Given the description of an element on the screen output the (x, y) to click on. 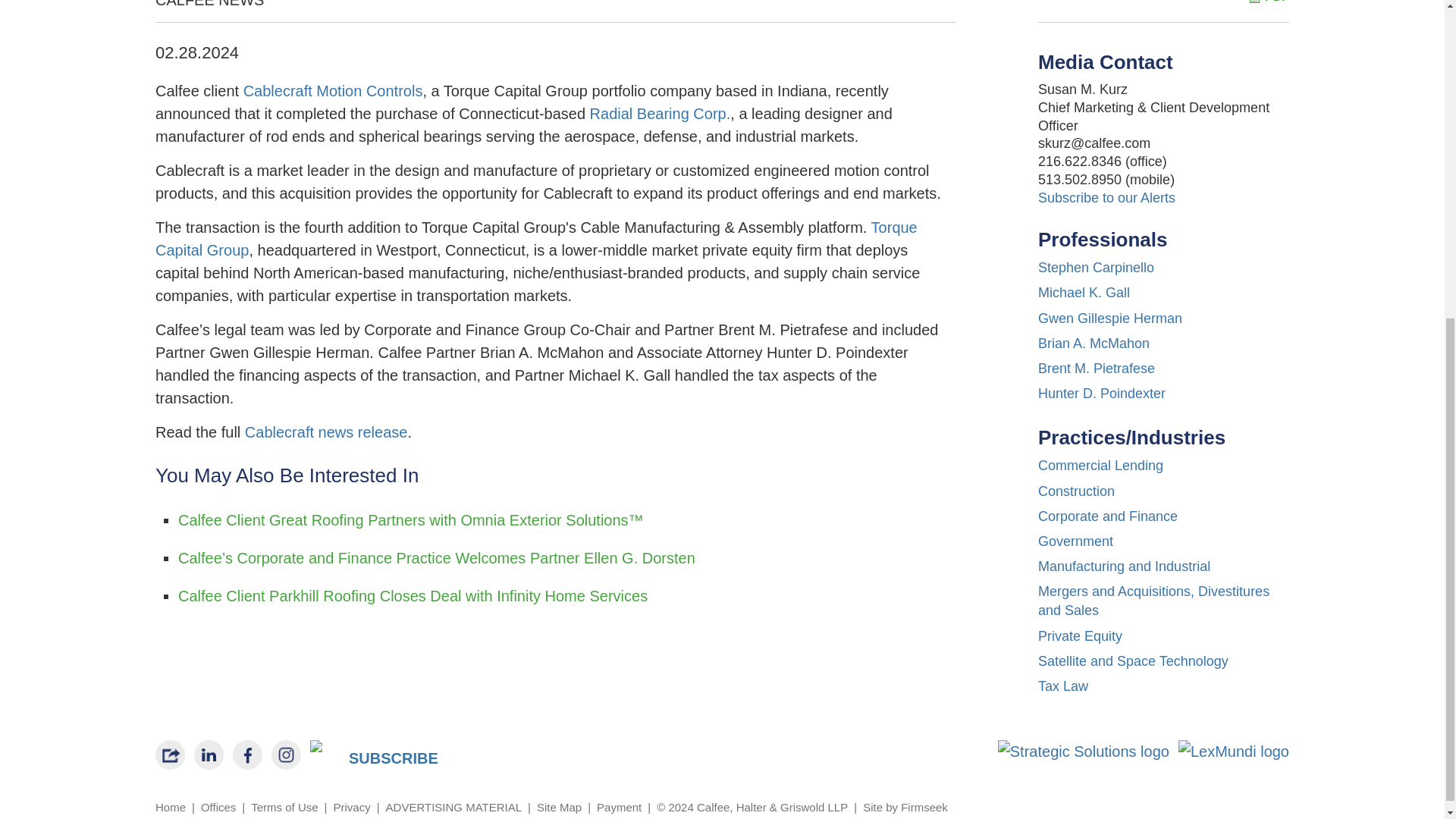
Cablecraft Motion Controls (333, 90)
Radial Bearing Corp. (659, 113)
Share (169, 754)
Cablecraft Motion Controls website at cablecraft.com (333, 90)
Cablecraft news release (325, 432)
Radial Bearing Corp's website at radialbearing.com (659, 113)
Torque Capital Group (536, 238)
Torque Capital Group's website at torquecap.com (536, 238)
